Given the description of an element on the screen output the (x, y) to click on. 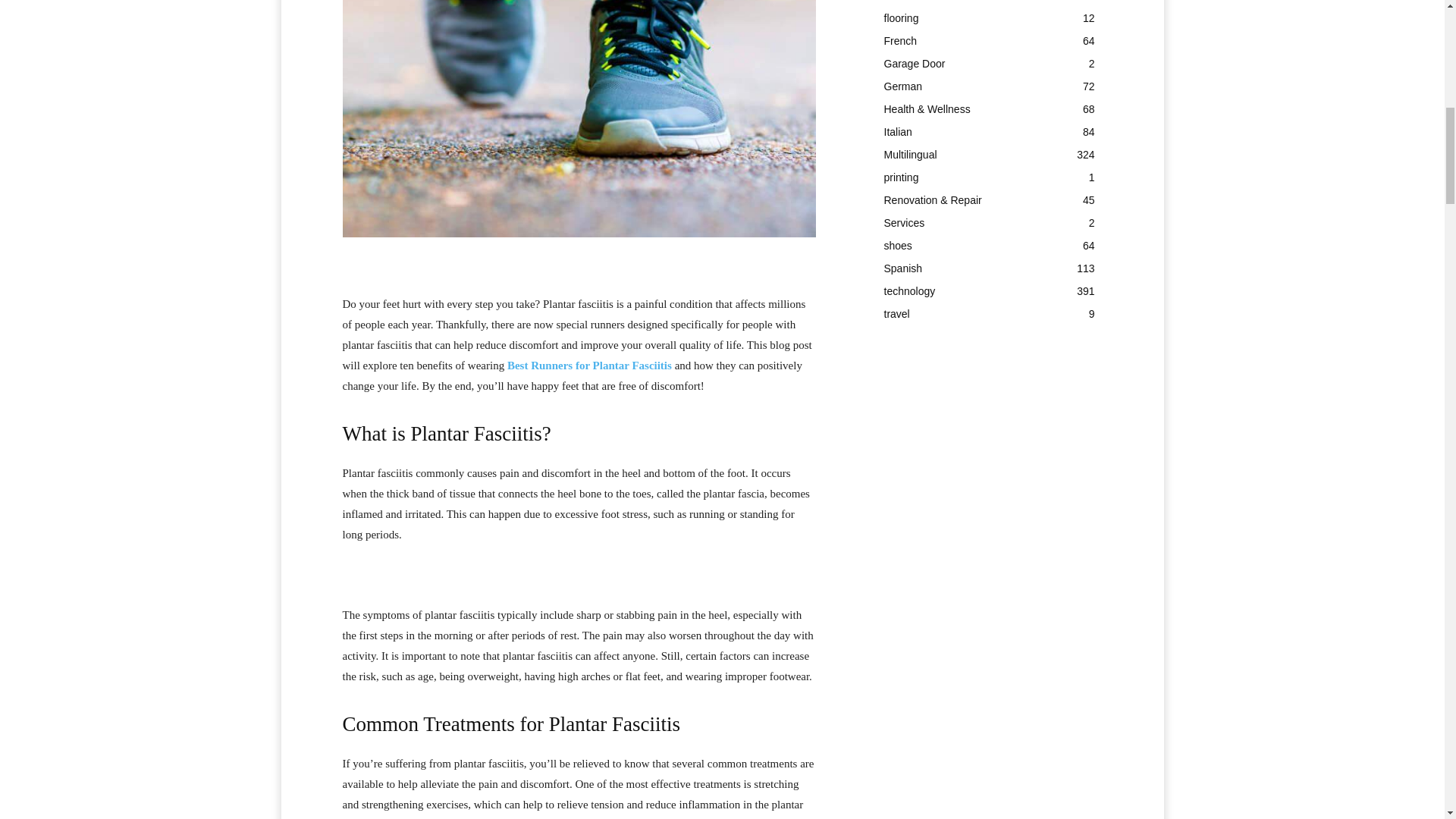
Best Runners for Plantar Fasciitis (588, 365)
